Given the description of an element on the screen output the (x, y) to click on. 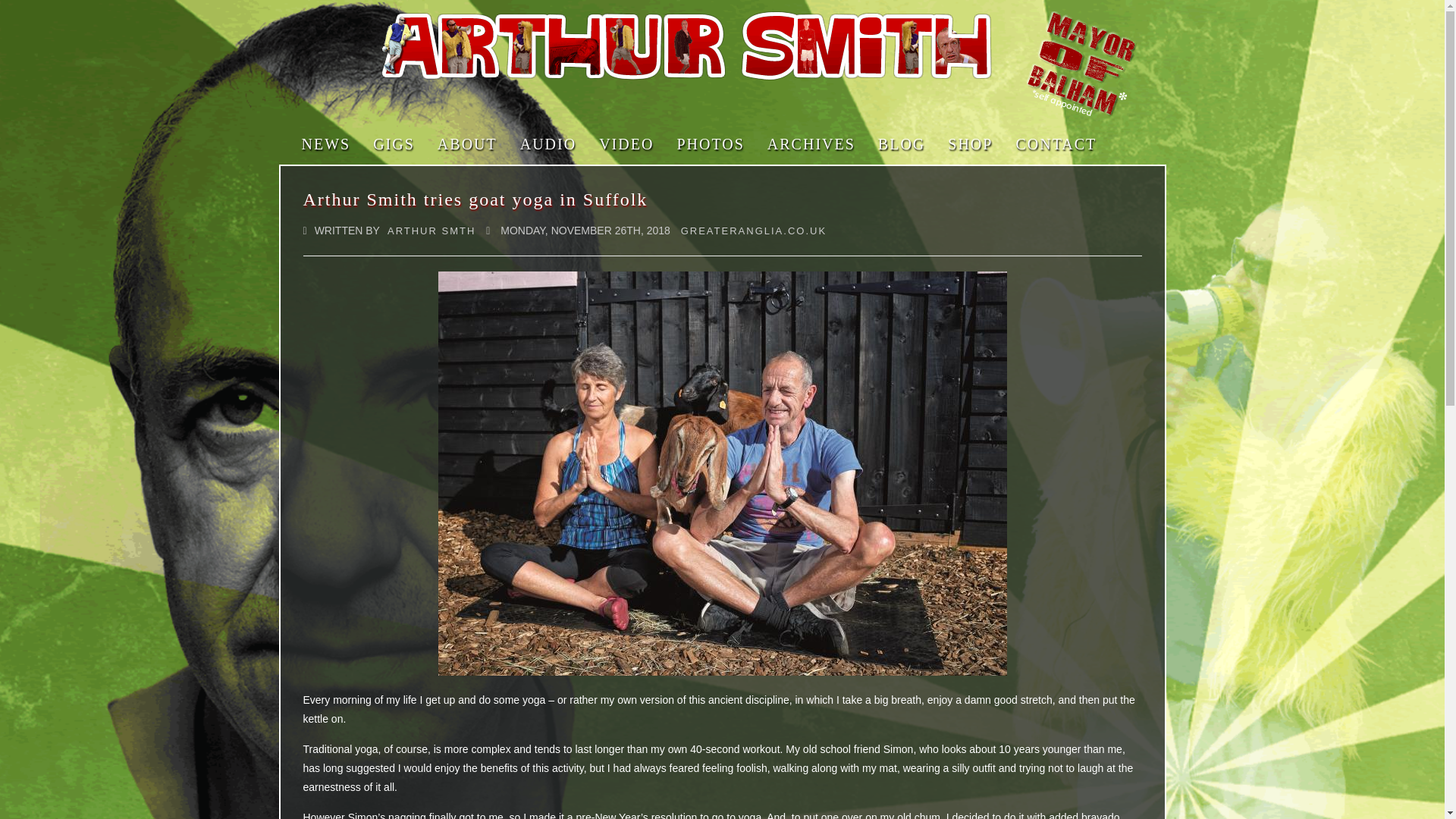
Photos (710, 144)
GREATERANGLIA.CO.UK (754, 230)
CONTACT (1055, 144)
Blog (900, 144)
Video (625, 144)
About (467, 144)
GIGS (393, 144)
ARCHIVES (811, 144)
Gigs (393, 144)
News (325, 144)
Arthur Smith - Night Mayor Of Balham. Self Appointed. (685, 45)
AUDIO (547, 144)
VIDEO (625, 144)
ABOUT (467, 144)
Audio (547, 144)
